Given the description of an element on the screen output the (x, y) to click on. 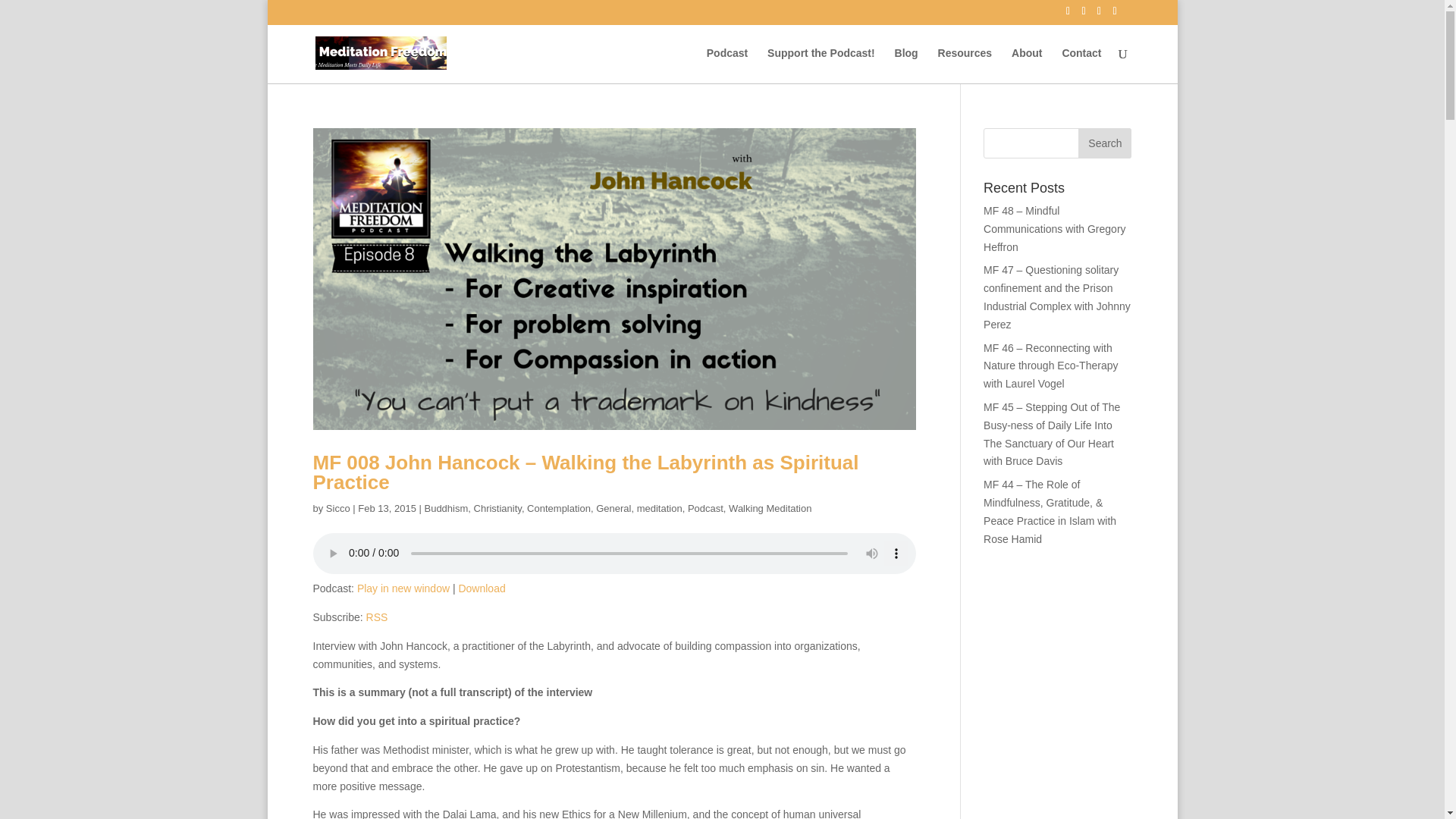
Search (1104, 142)
Contemplation (559, 508)
RSS (377, 616)
Christianity (497, 508)
Play in new window (402, 588)
Walking Meditation (769, 508)
Posts by Sicco (338, 508)
Play in new window (402, 588)
Buddhism (445, 508)
General (612, 508)
